Given the description of an element on the screen output the (x, y) to click on. 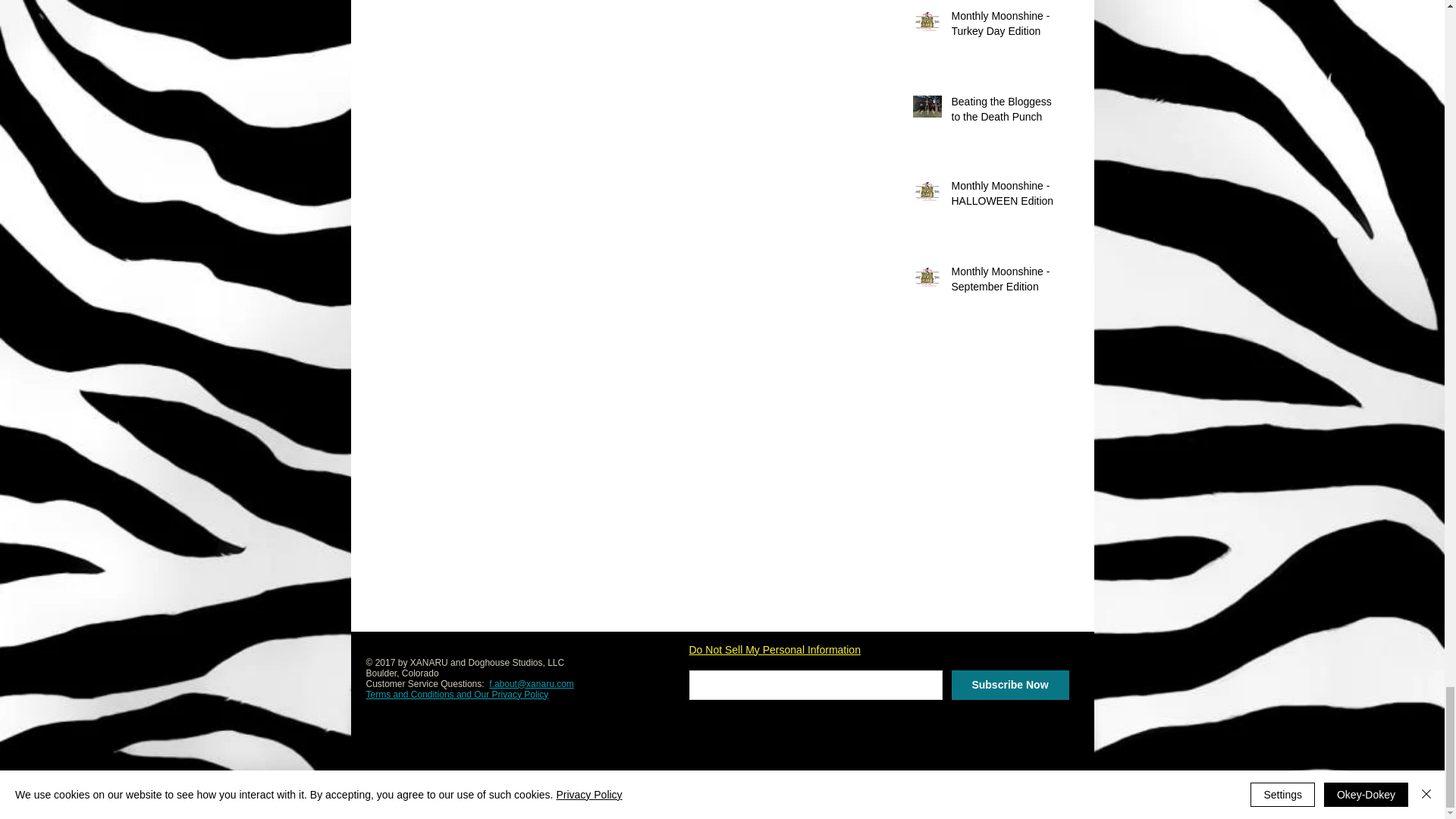
Monthly Moonshine - September Edition (1004, 282)
Subscribe Now (1009, 685)
Monthly Moonshine - HALLOWEEN Edition (1004, 196)
Terms and Conditions and Our Privacy Policy (456, 694)
Do Not Sell My Personal Information (774, 650)
Beating the Bloggess to the Death Punch (1004, 112)
Monthly Moonshine - Turkey Day Edition (1004, 27)
